Given the description of an element on the screen output the (x, y) to click on. 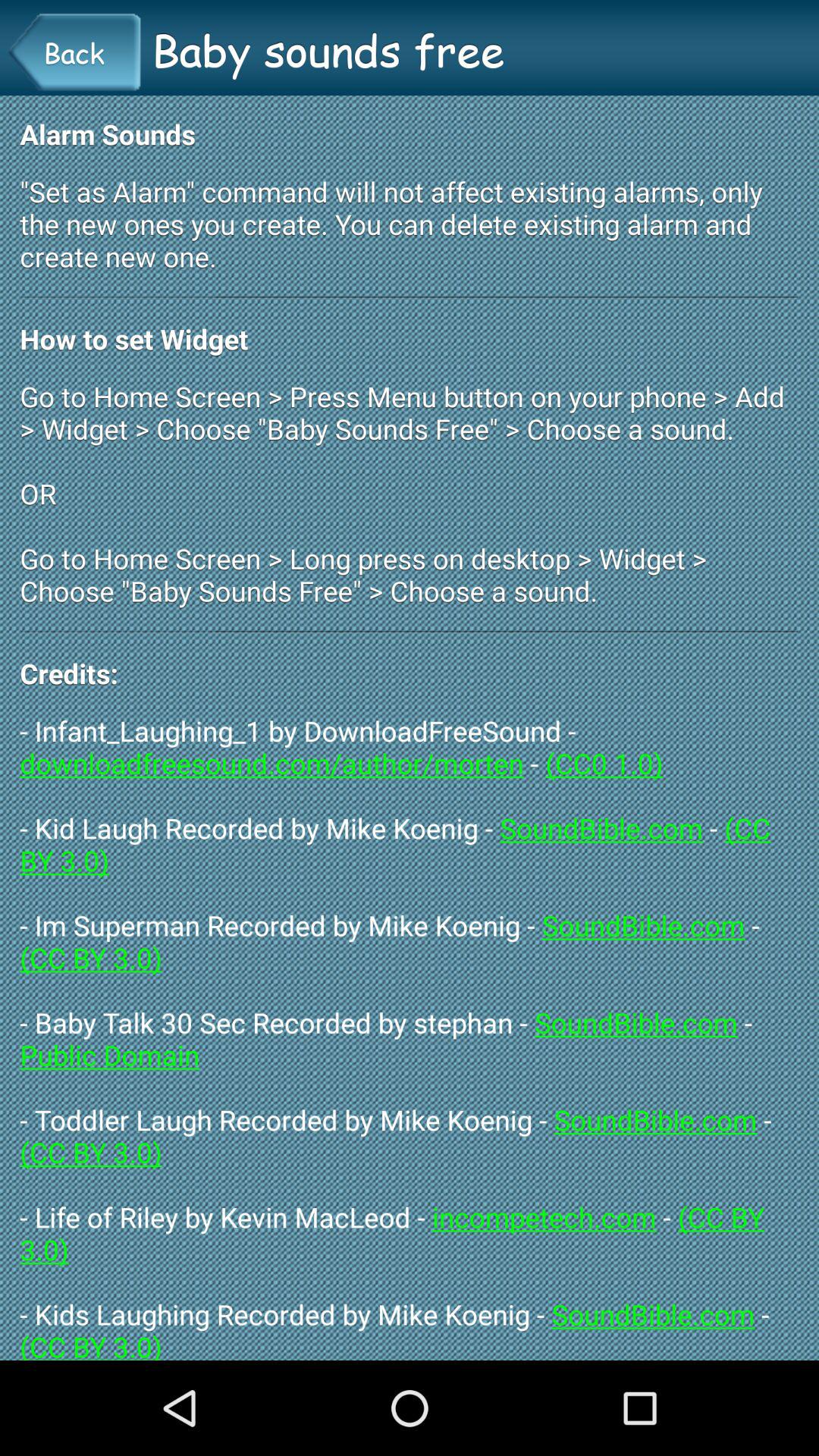
turn on the app to the left of the baby sounds free app (73, 52)
